Given the description of an element on the screen output the (x, y) to click on. 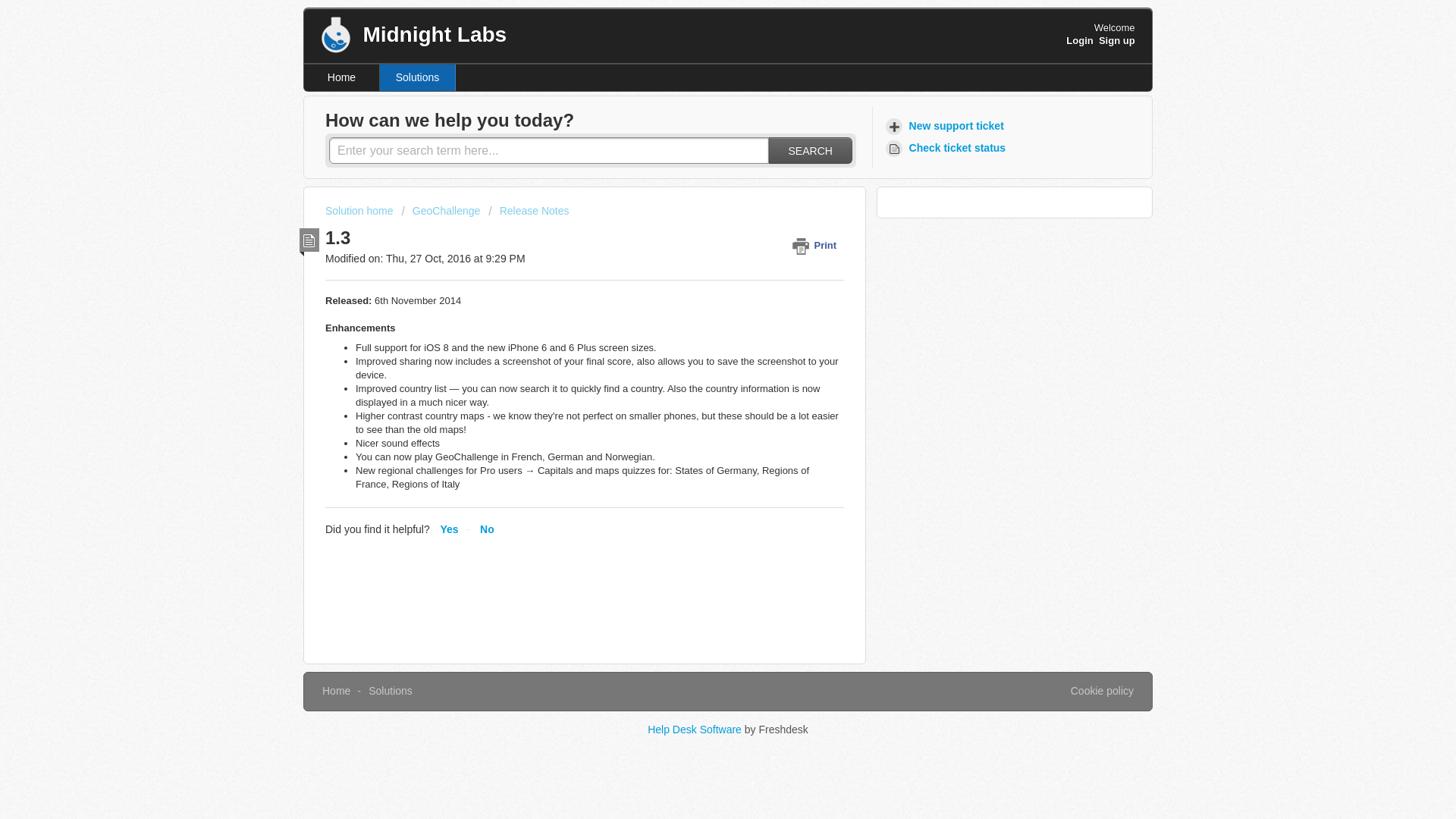
Solution home (360, 210)
Why we love Cookies (1102, 691)
Help Desk Software (695, 729)
Check ticket status (947, 147)
Print (818, 244)
Solutions (390, 690)
Cookie policy (1102, 691)
Release Notes (528, 210)
Home (342, 77)
New support ticket (946, 126)
Home (335, 690)
Solutions (417, 77)
SEARCH (809, 150)
Check ticket status (947, 147)
Sign up (1117, 40)
